Given the description of an element on the screen output the (x, y) to click on. 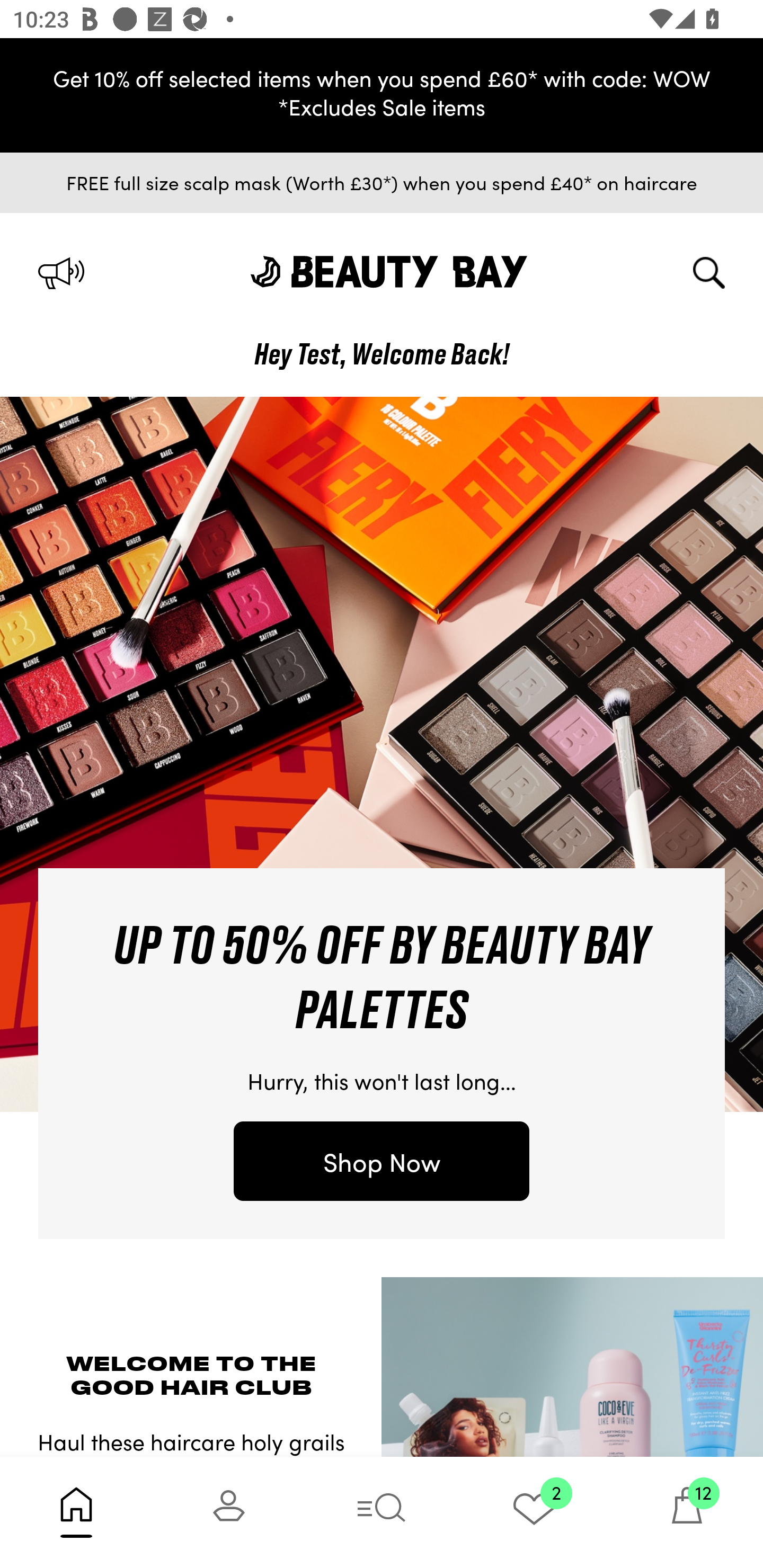
2 (533, 1512)
12 (686, 1512)
